Given the description of an element on the screen output the (x, y) to click on. 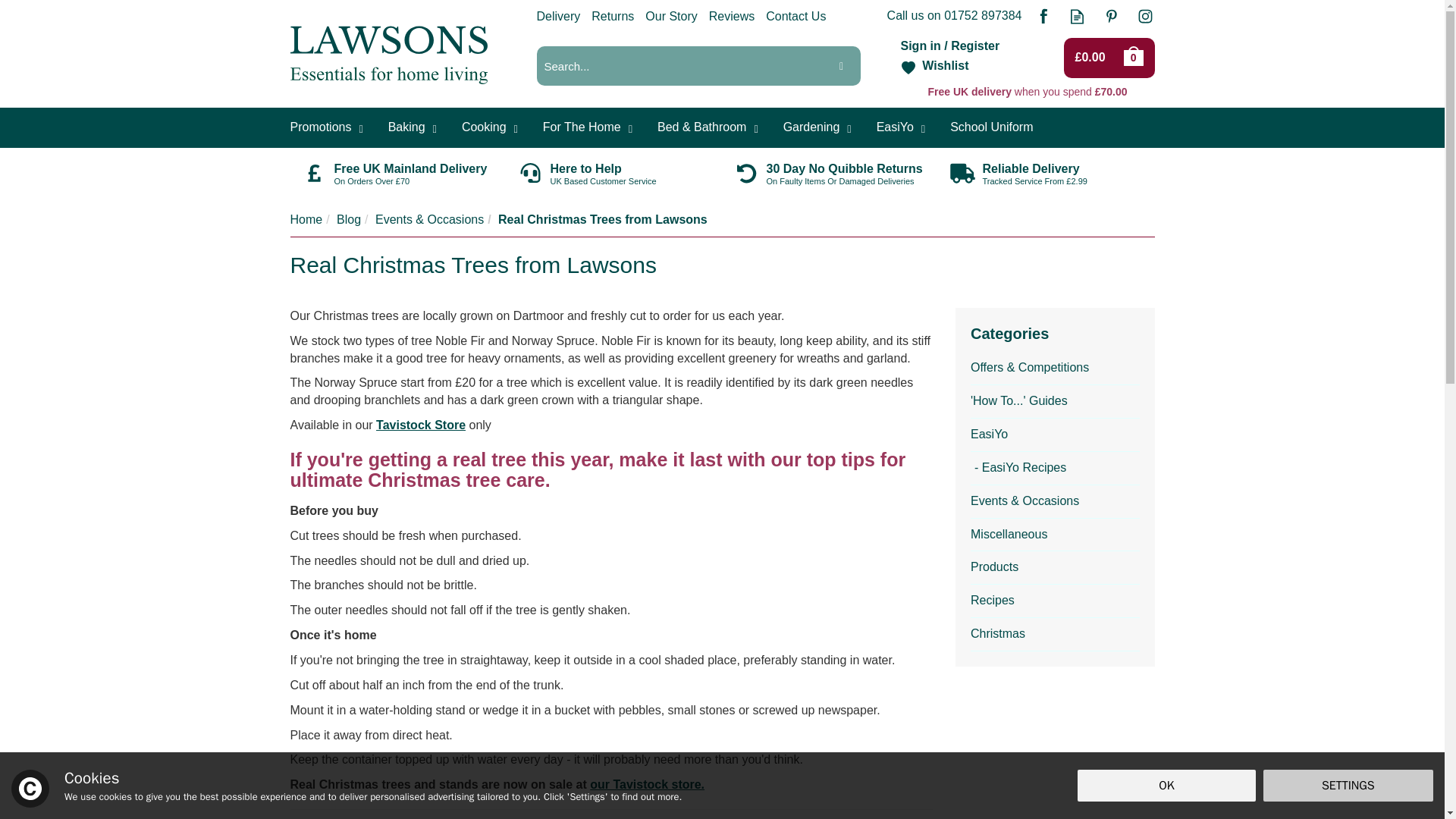
Blog (348, 219)
Christmas (1055, 634)
Wishlist (934, 67)
Miscellaneous (1055, 535)
EasiYo Recipes (1055, 468)
Bag (1135, 56)
our Tavistock store. (646, 784)
Recipes (1055, 601)
EasiYo Recipes (1055, 468)
Christmas (1055, 634)
'How To...' Guides (1055, 401)
Home (305, 219)
Follow us on Instagram (1144, 15)
Products (1055, 567)
Recipes (1055, 601)
